Given the description of an element on the screen output the (x, y) to click on. 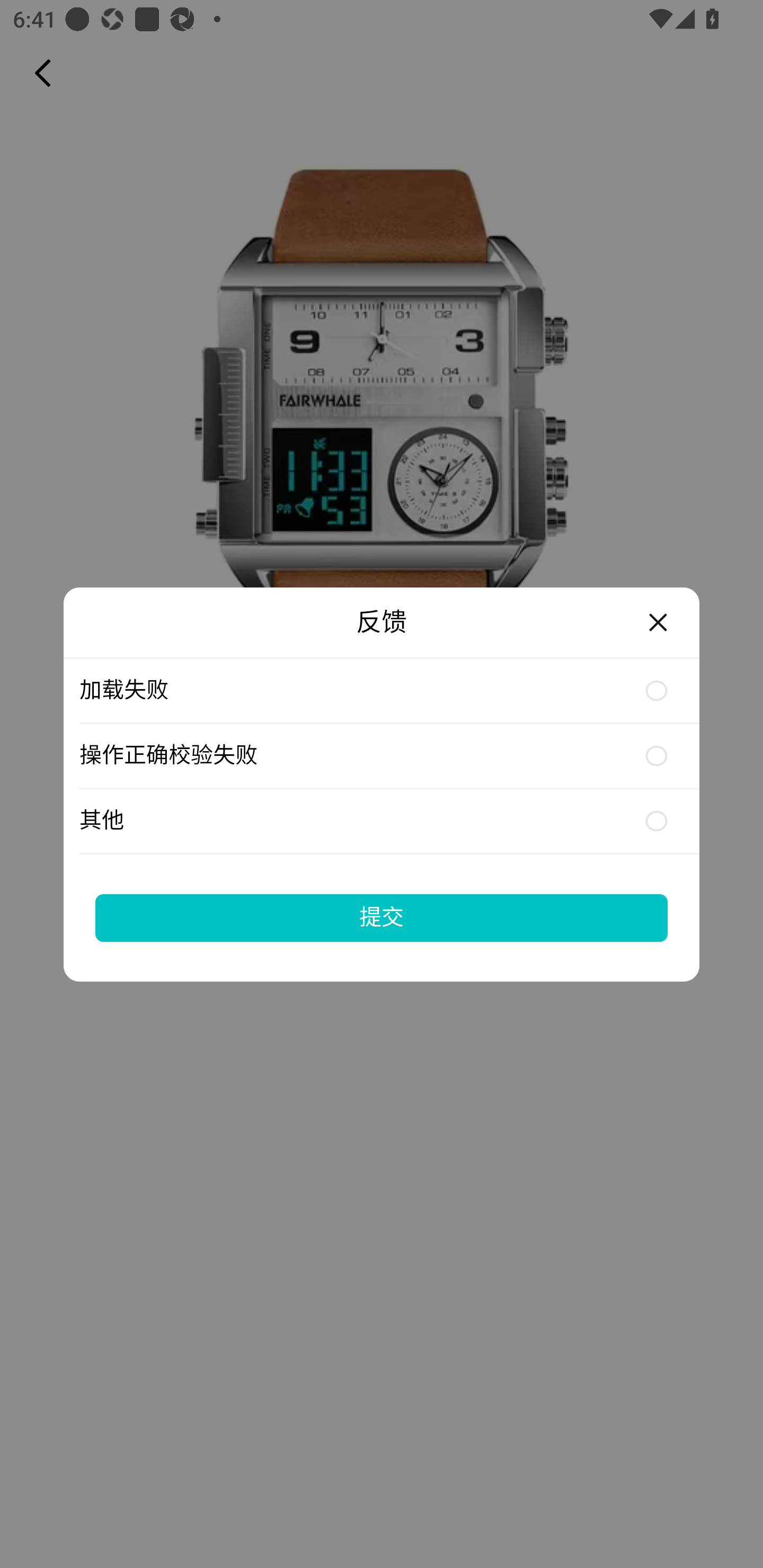
提交 (381, 917)
